Given the description of an element on the screen output the (x, y) to click on. 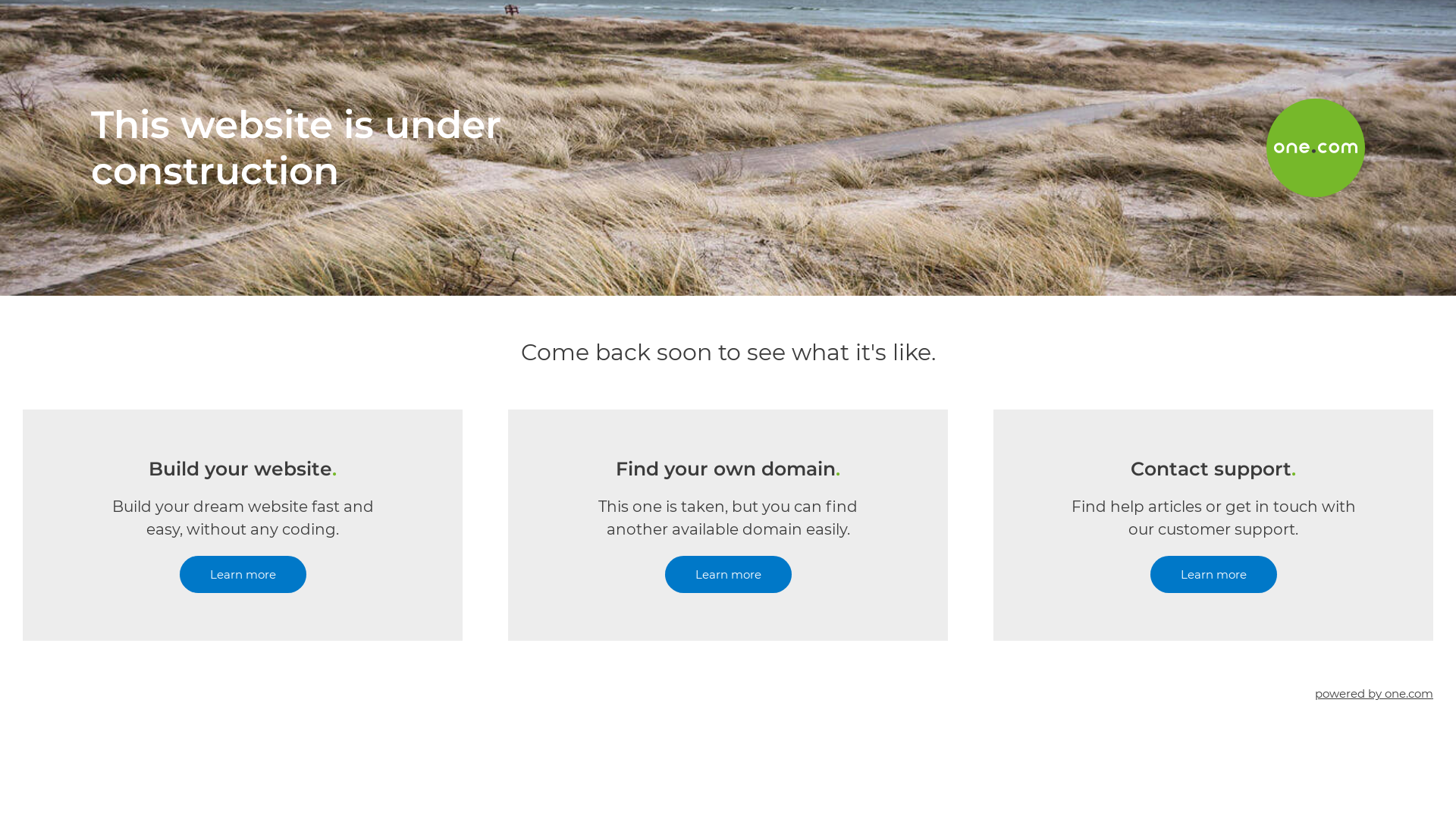
Learn more Element type: text (727, 574)
Learn more Element type: text (1212, 574)
powered by one.com Element type: text (1373, 693)
Learn more Element type: text (241, 574)
